Given the description of an element on the screen output the (x, y) to click on. 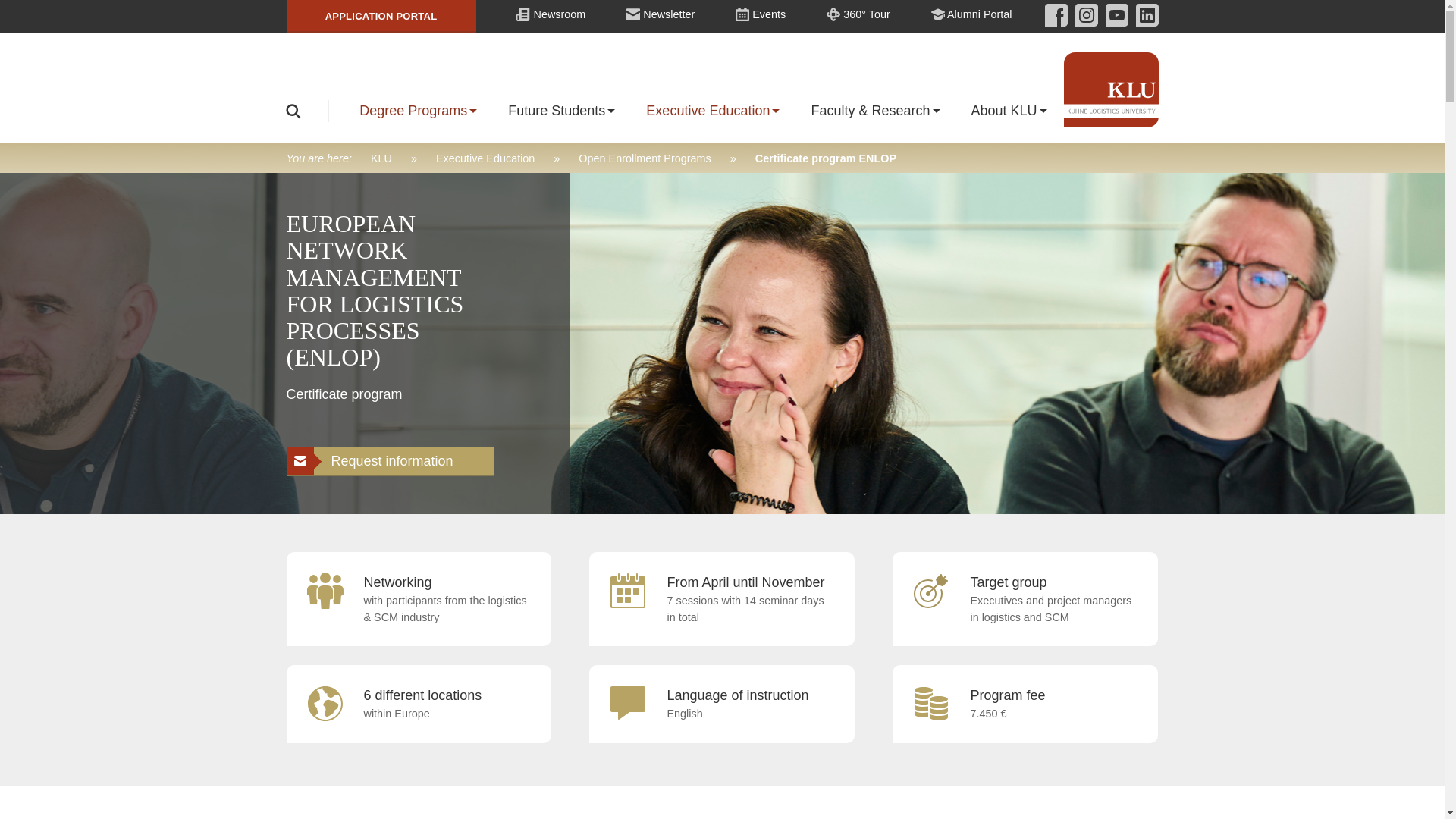
Facebook (1056, 15)
Instagram (1082, 15)
LinkedIn (1143, 15)
YouTube (1112, 15)
